Given the description of an element on the screen output the (x, y) to click on. 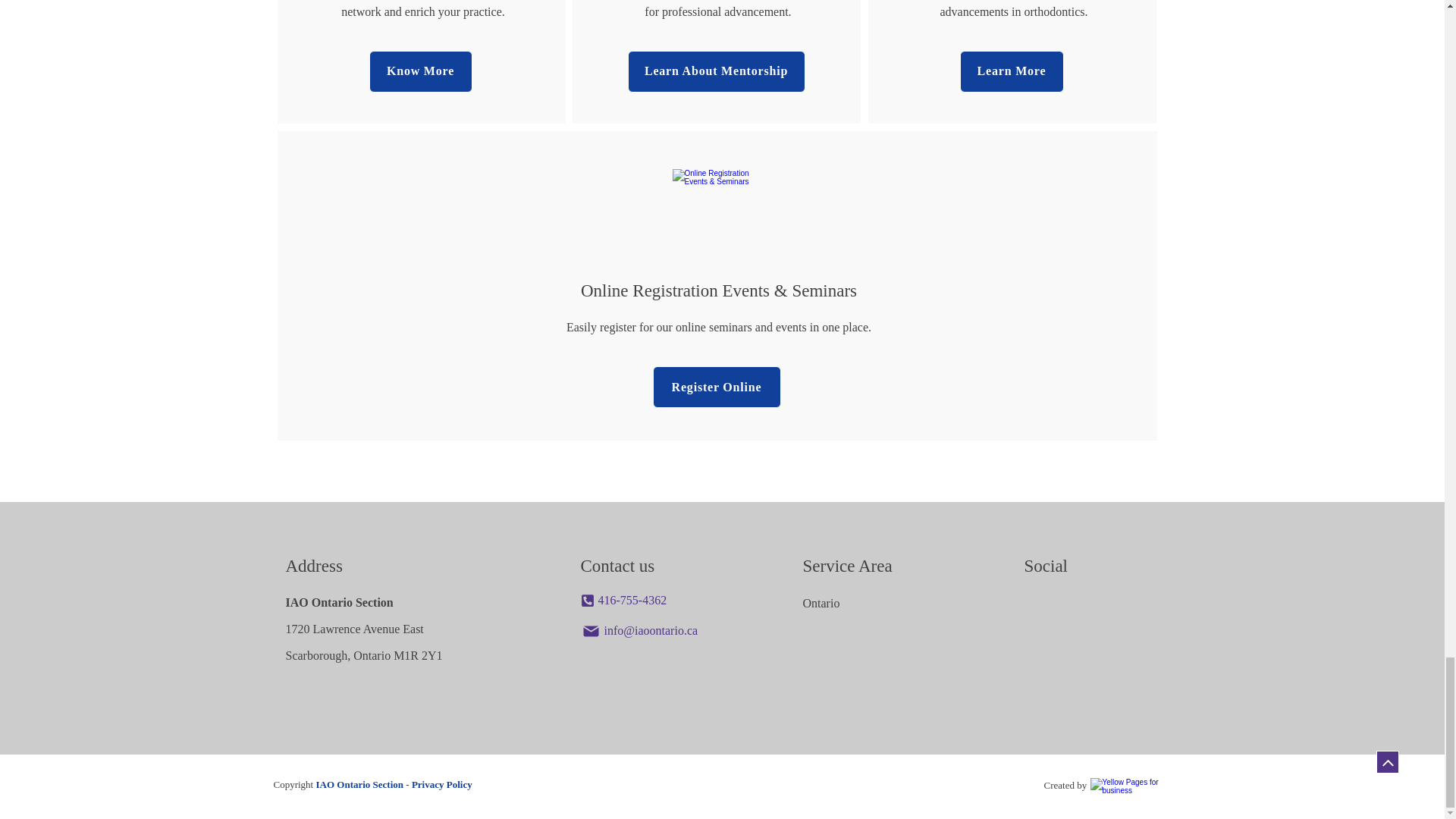
Learn About Mentorship (716, 71)
Know More (419, 71)
